Given the description of an element on the screen output the (x, y) to click on. 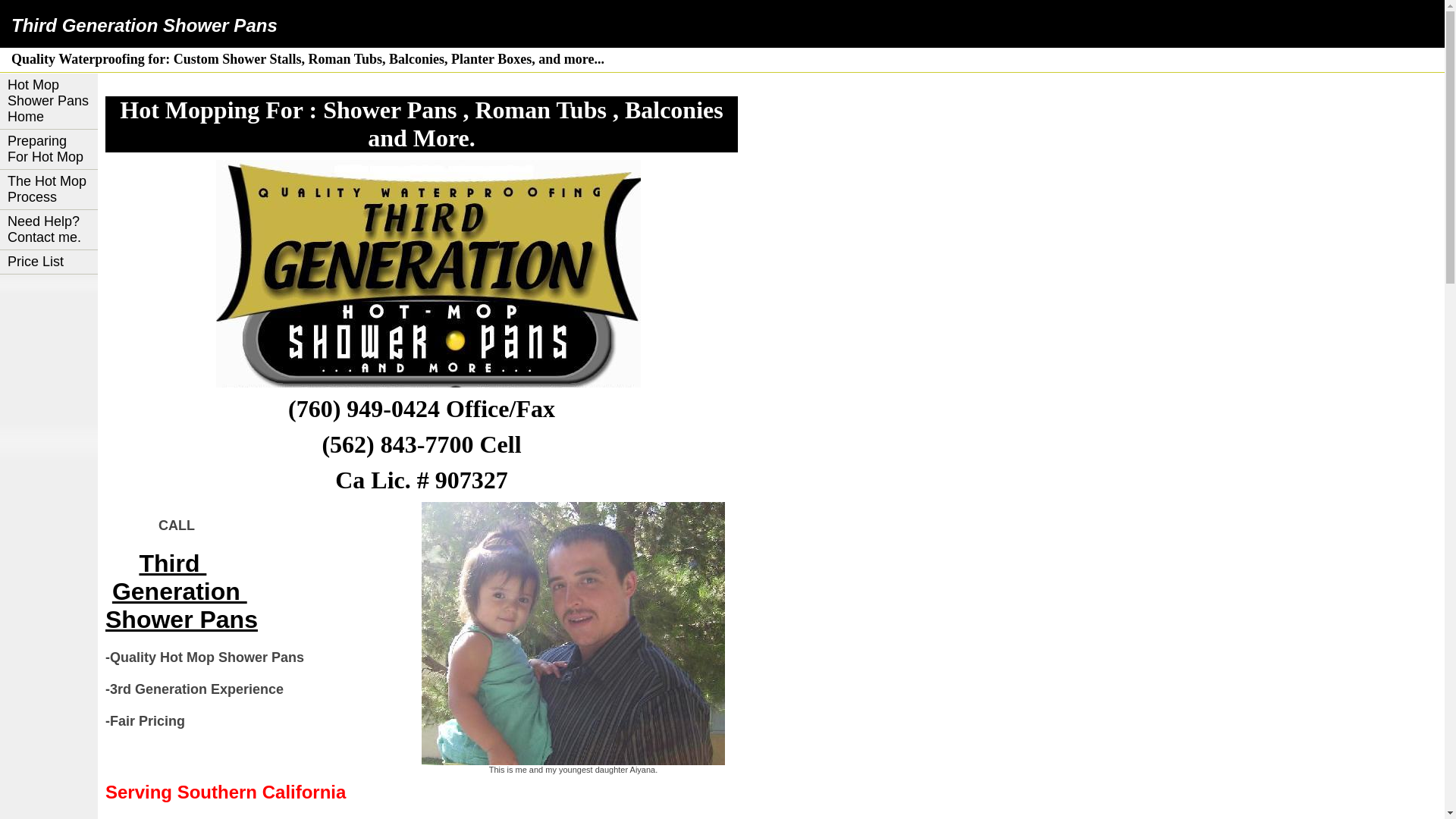
Price List Element type: text (48, 262)
Preparing For Hot Mop Element type: text (48, 149)
The Hot Mop Process Element type: text (48, 189)
Hot Mop Shower Pans Home Element type: text (48, 101)
Need Help? Contact me. Element type: text (48, 230)
